Given the description of an element on the screen output the (x, y) to click on. 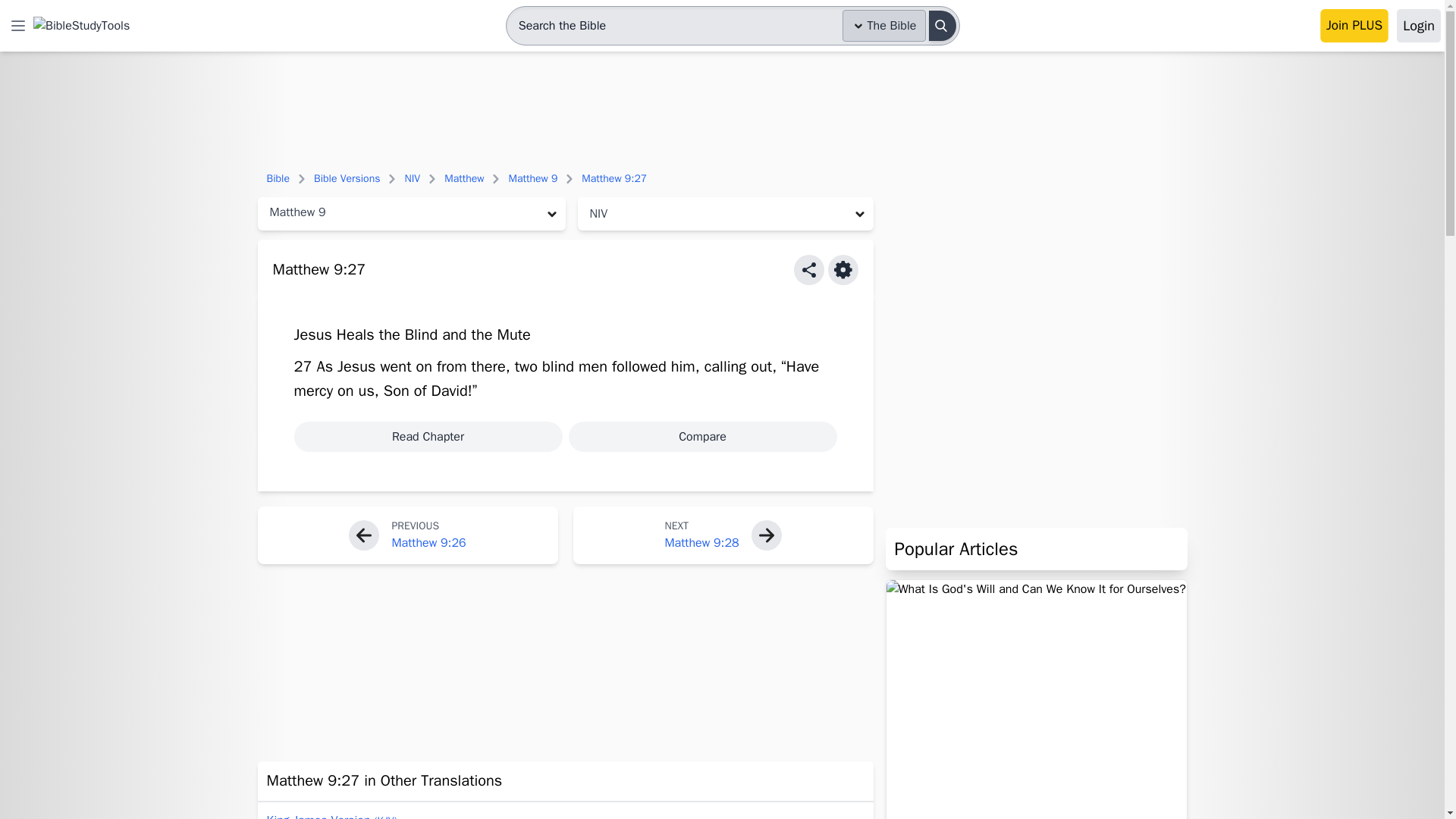
Join PLUS (1354, 26)
Scripture Settings (843, 269)
Login (1418, 25)
The Bible (884, 25)
